Given the description of an element on the screen output the (x, y) to click on. 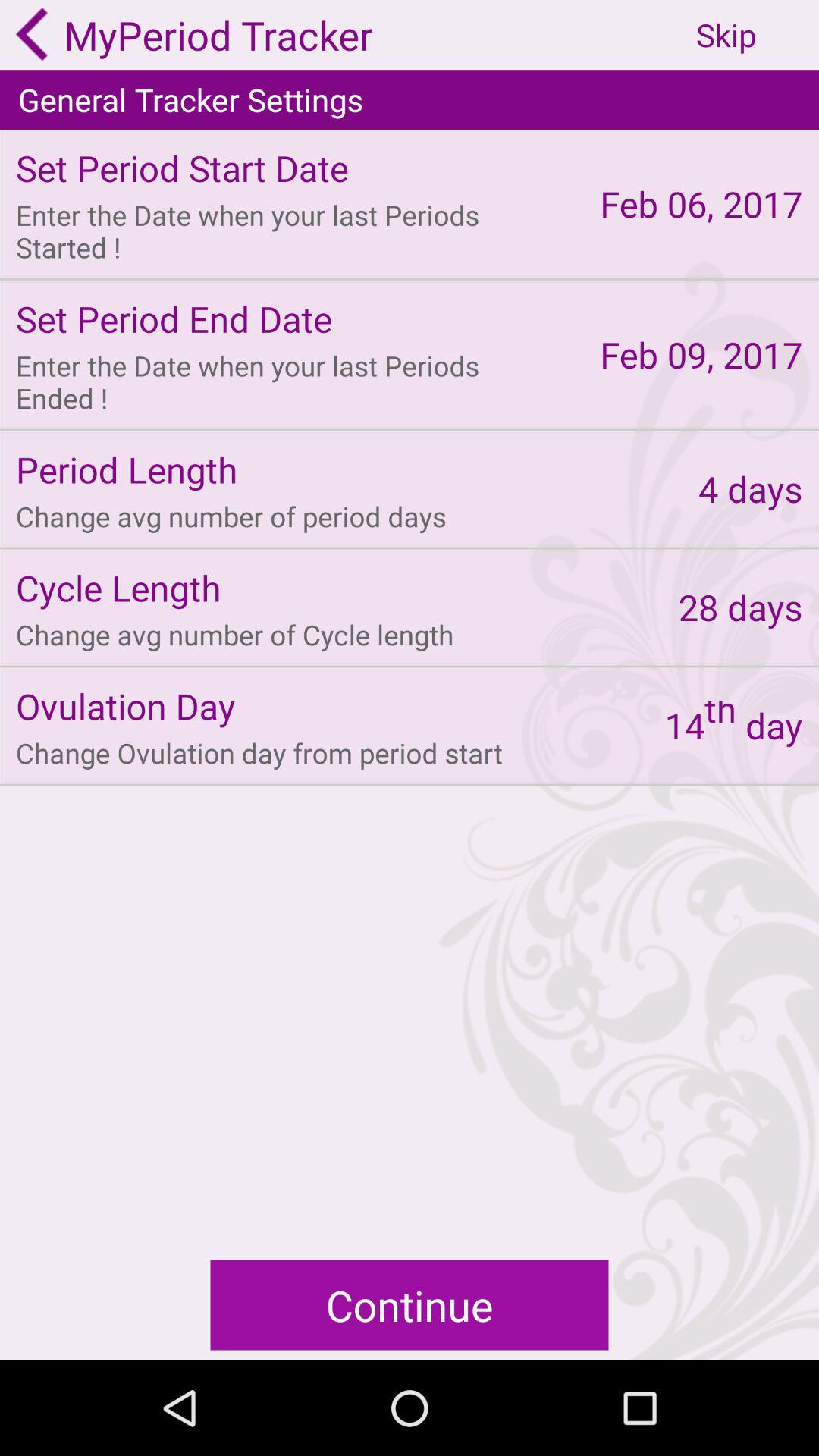
go back (31, 34)
